Given the description of an element on the screen output the (x, y) to click on. 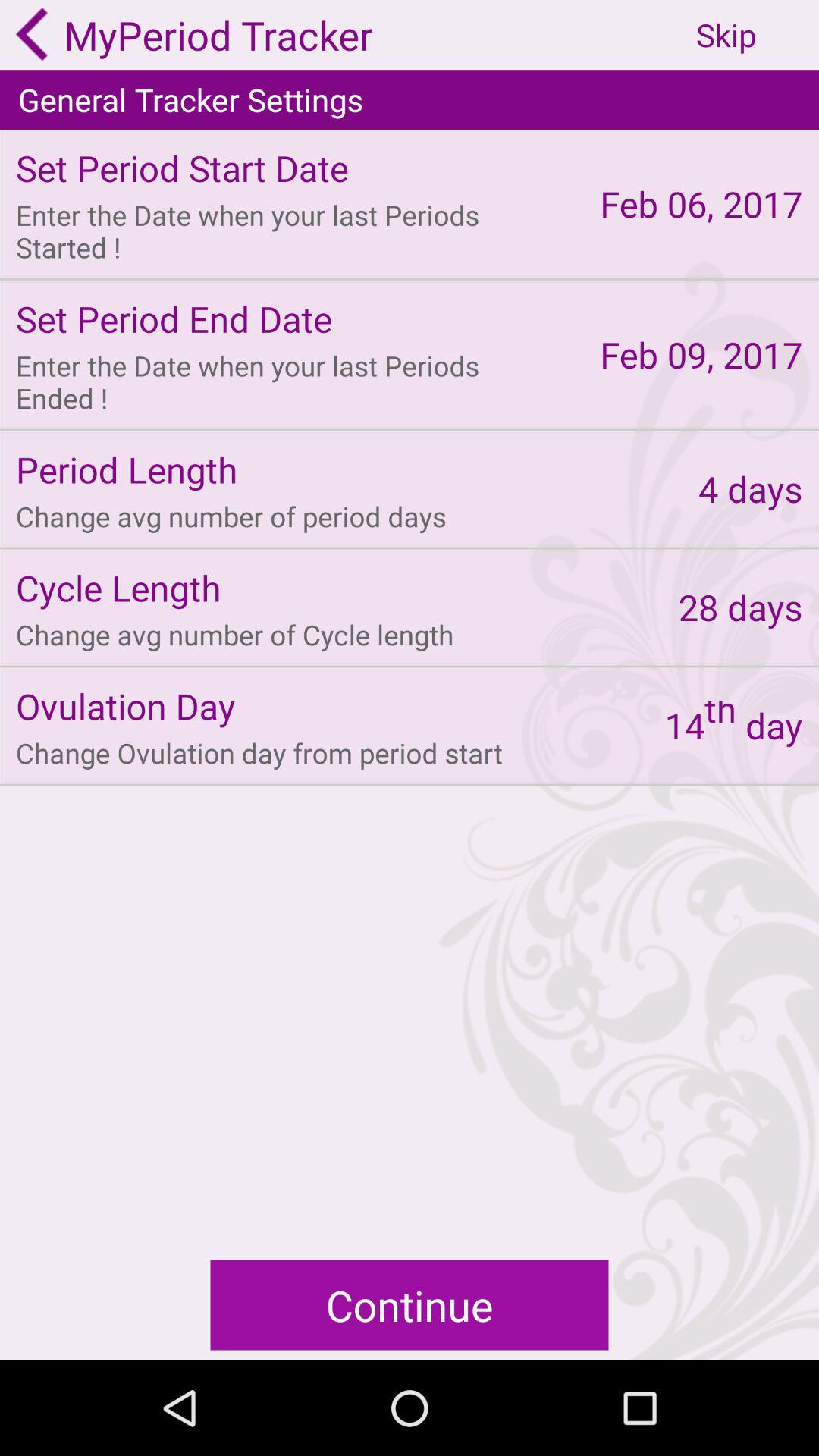
go back (31, 34)
